Given the description of an element on the screen output the (x, y) to click on. 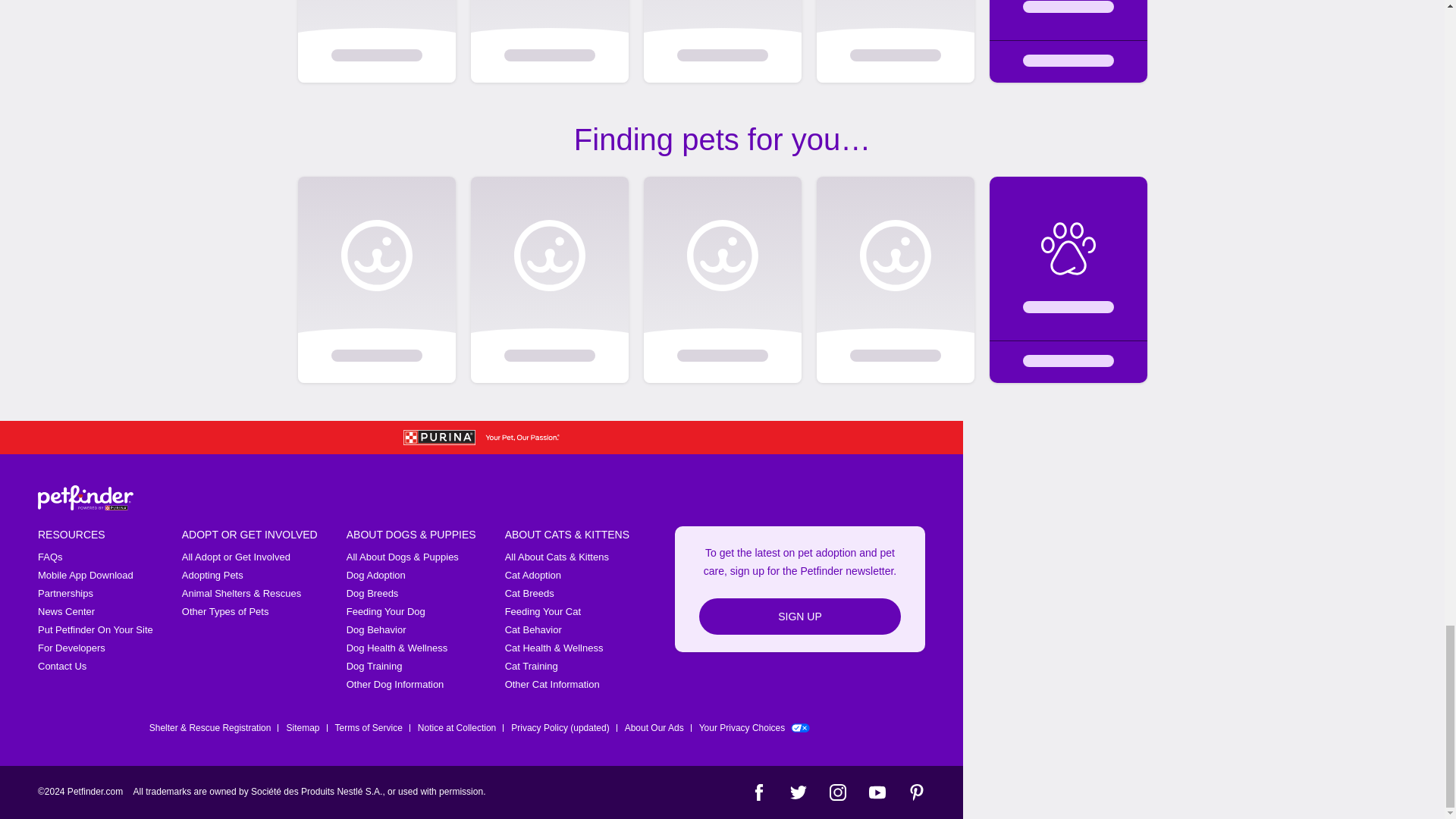
Instagram (837, 791)
Twitter (798, 791)
Pinterest (916, 791)
Facebook (759, 791)
Petfinder Logo (85, 497)
YouTube (877, 791)
